Given the description of an element on the screen output the (x, y) to click on. 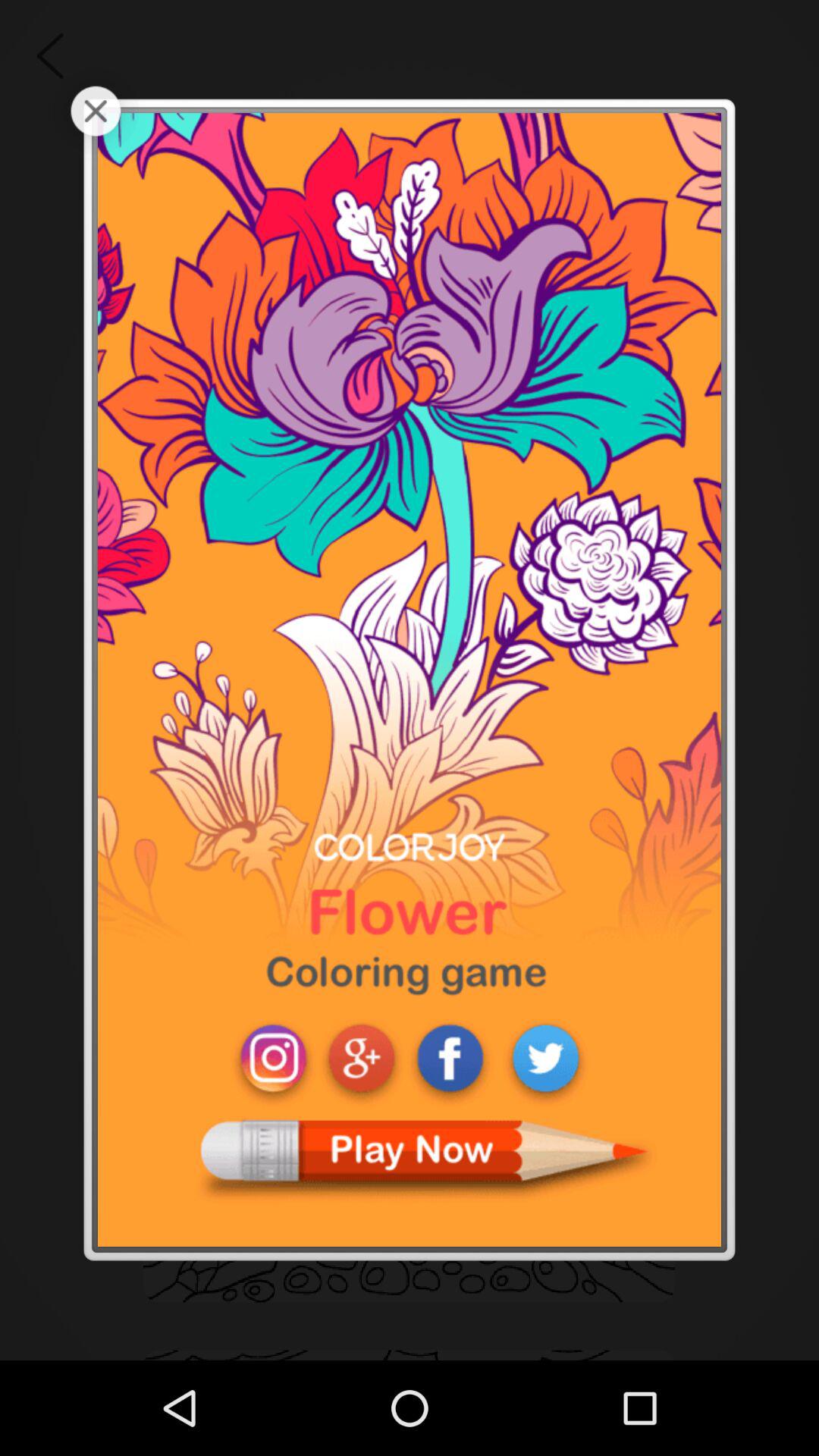
launch icon at the center (409, 679)
